Given the description of an element on the screen output the (x, y) to click on. 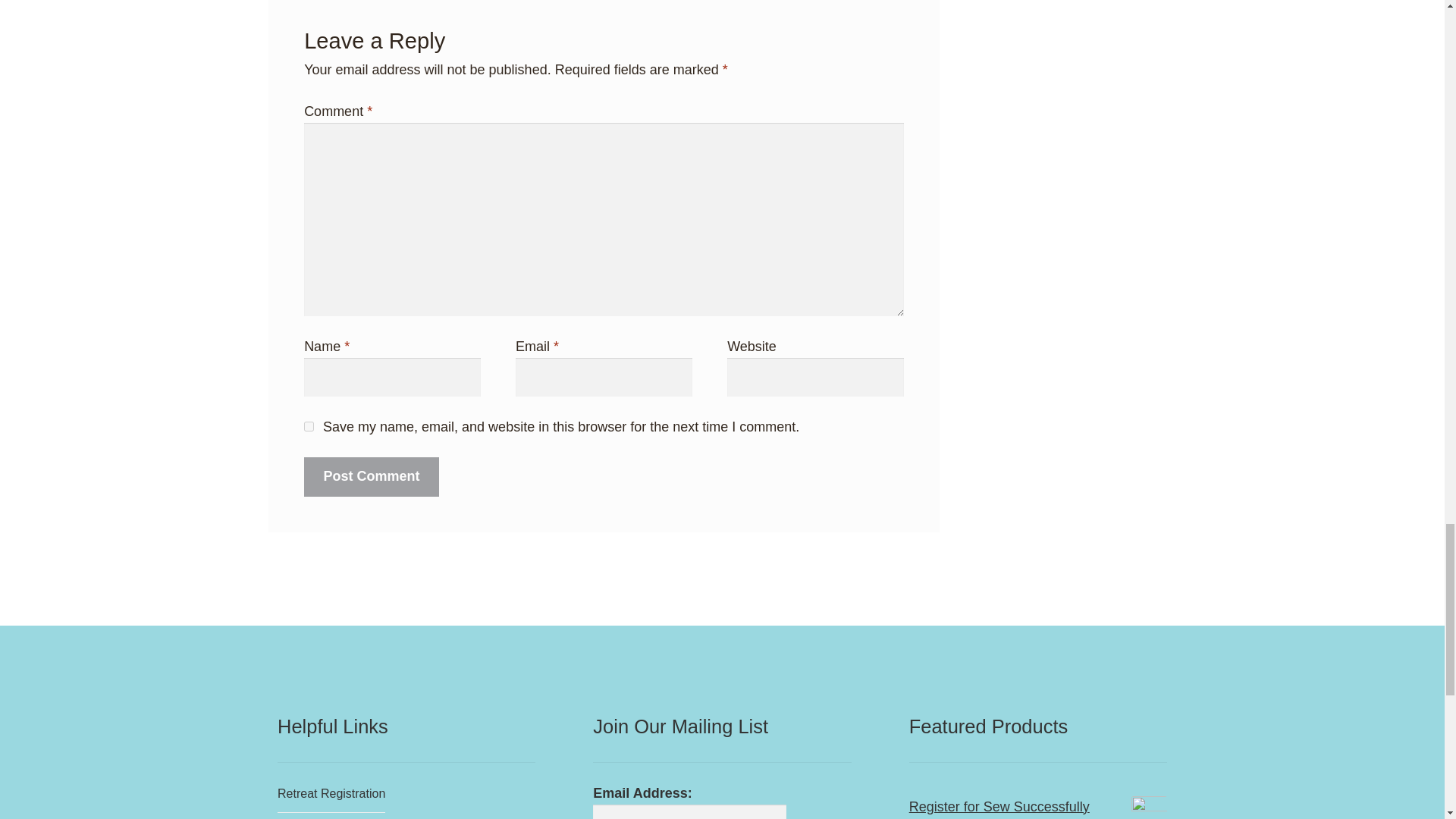
yes (309, 426)
Post Comment (371, 476)
